Given the description of an element on the screen output the (x, y) to click on. 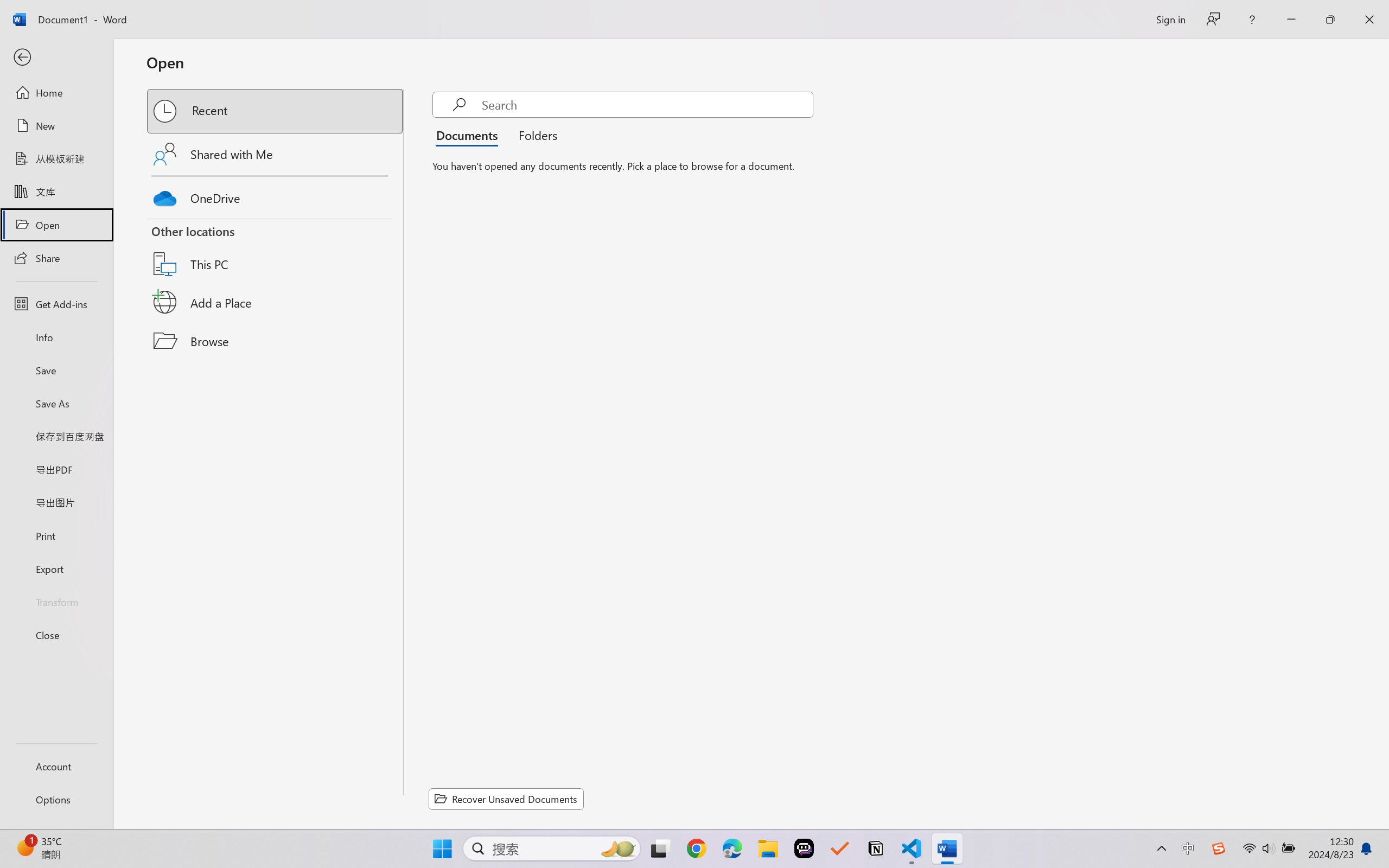
Add a Place (275, 302)
Transform (56, 601)
Print (56, 535)
New (56, 125)
Folders (534, 134)
Options (56, 798)
Back (56, 57)
